Given the description of an element on the screen output the (x, y) to click on. 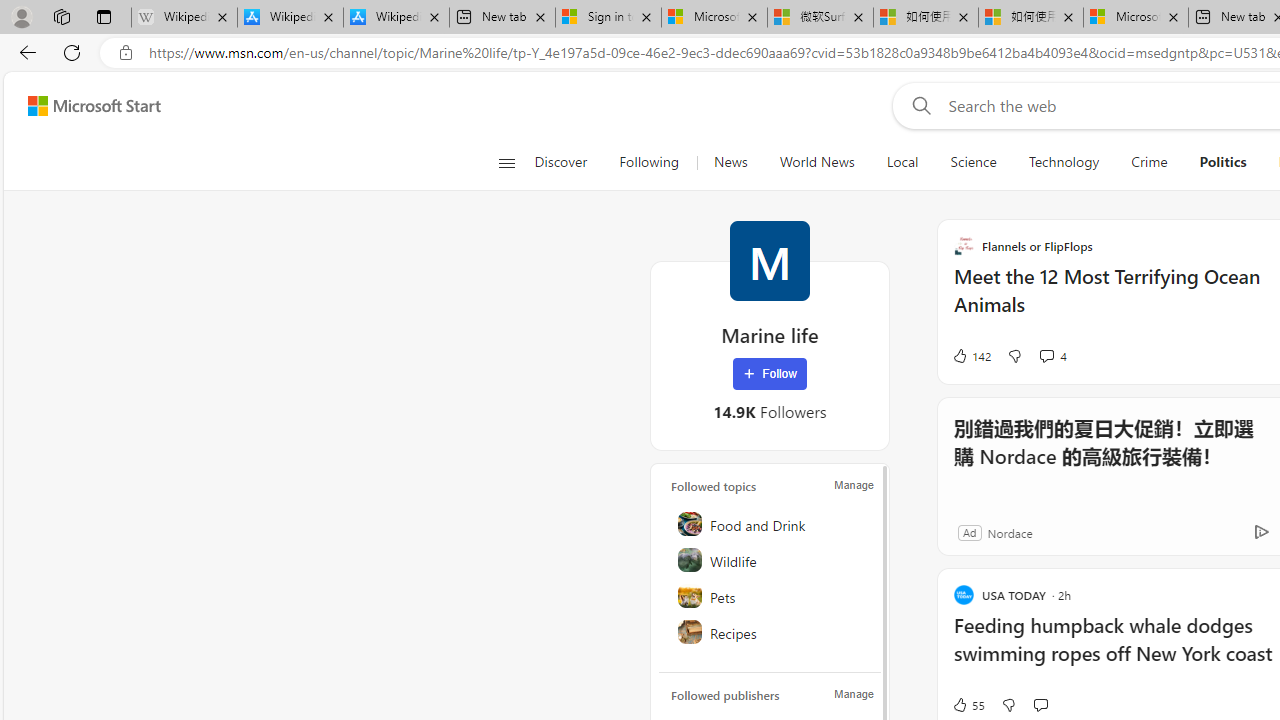
142 Like (970, 355)
Recipes (771, 632)
